Given the description of an element on the screen output the (x, y) to click on. 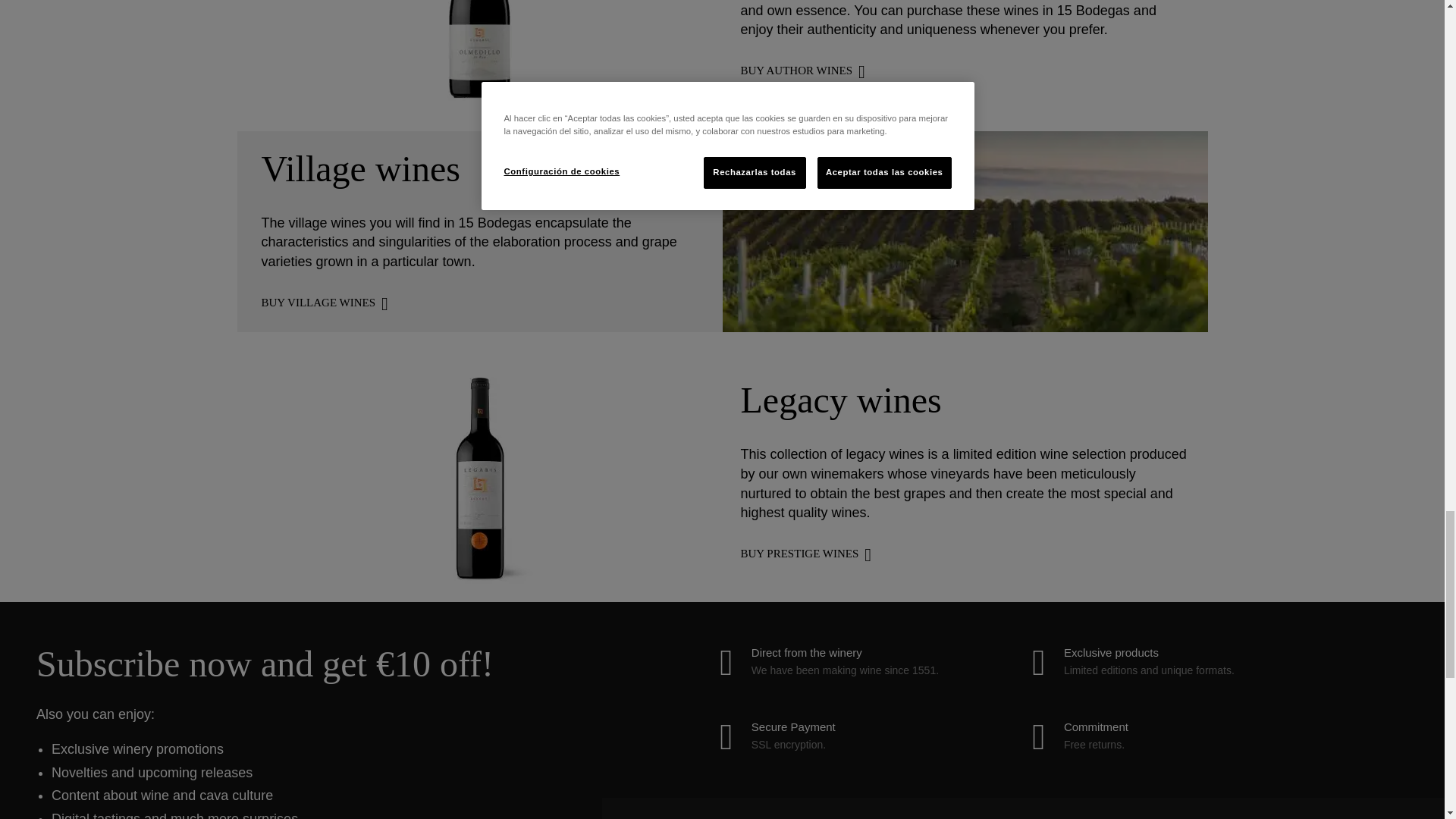
Legaris Prestige Wine (478, 579)
Olmedillo de Roa (478, 50)
Legaris Prestige Wine (478, 469)
Olmedillo de Roa (478, 96)
